Given the description of an element on the screen output the (x, y) to click on. 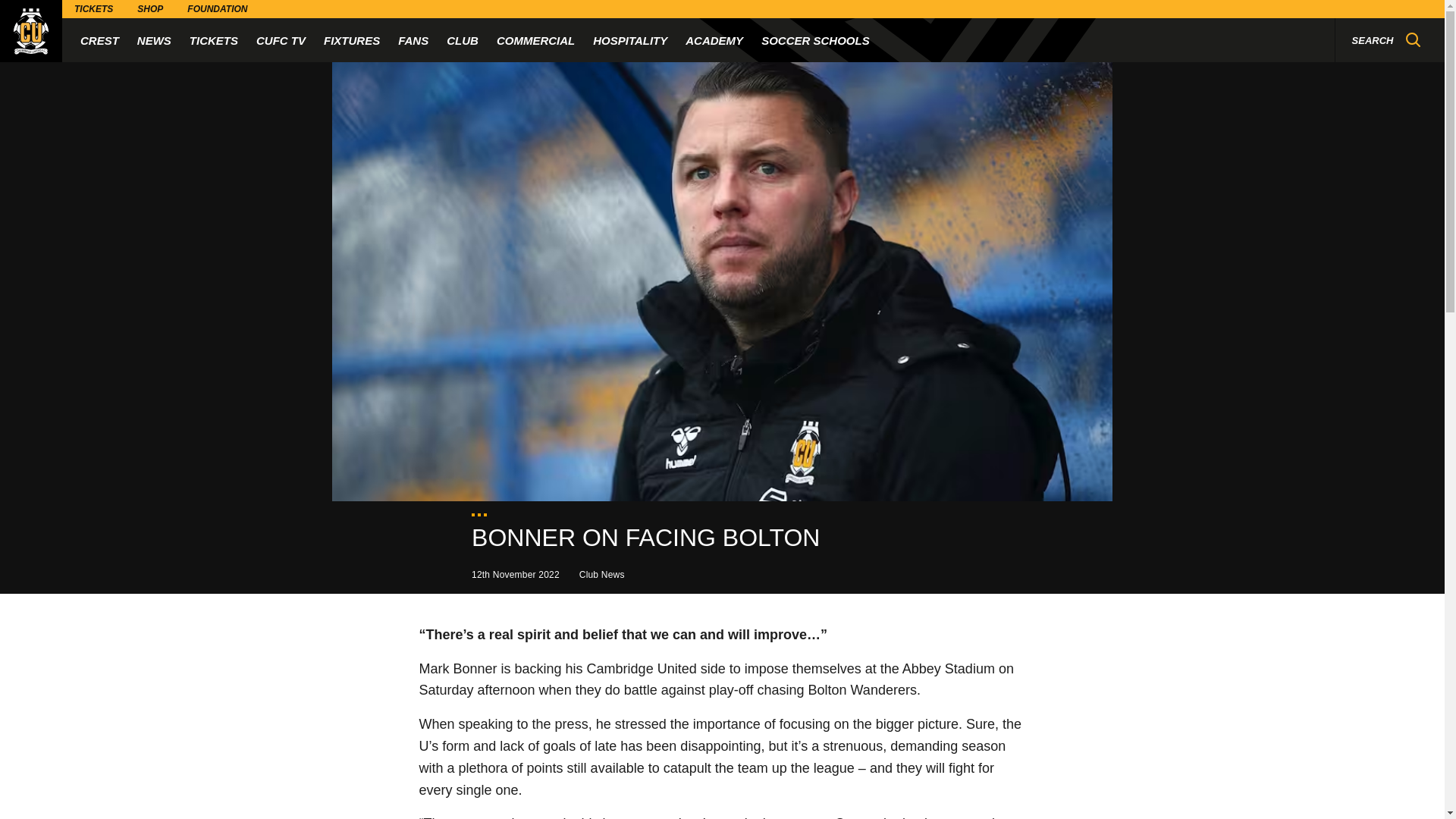
TICKETS (93, 9)
Commerical opportunities at Cambridge United (535, 40)
FIXTURES (351, 40)
Back to home (31, 31)
FOUNDATION (216, 9)
CUFC TV (280, 40)
SHOP (149, 9)
TICKETS (213, 40)
